Given the description of an element on the screen output the (x, y) to click on. 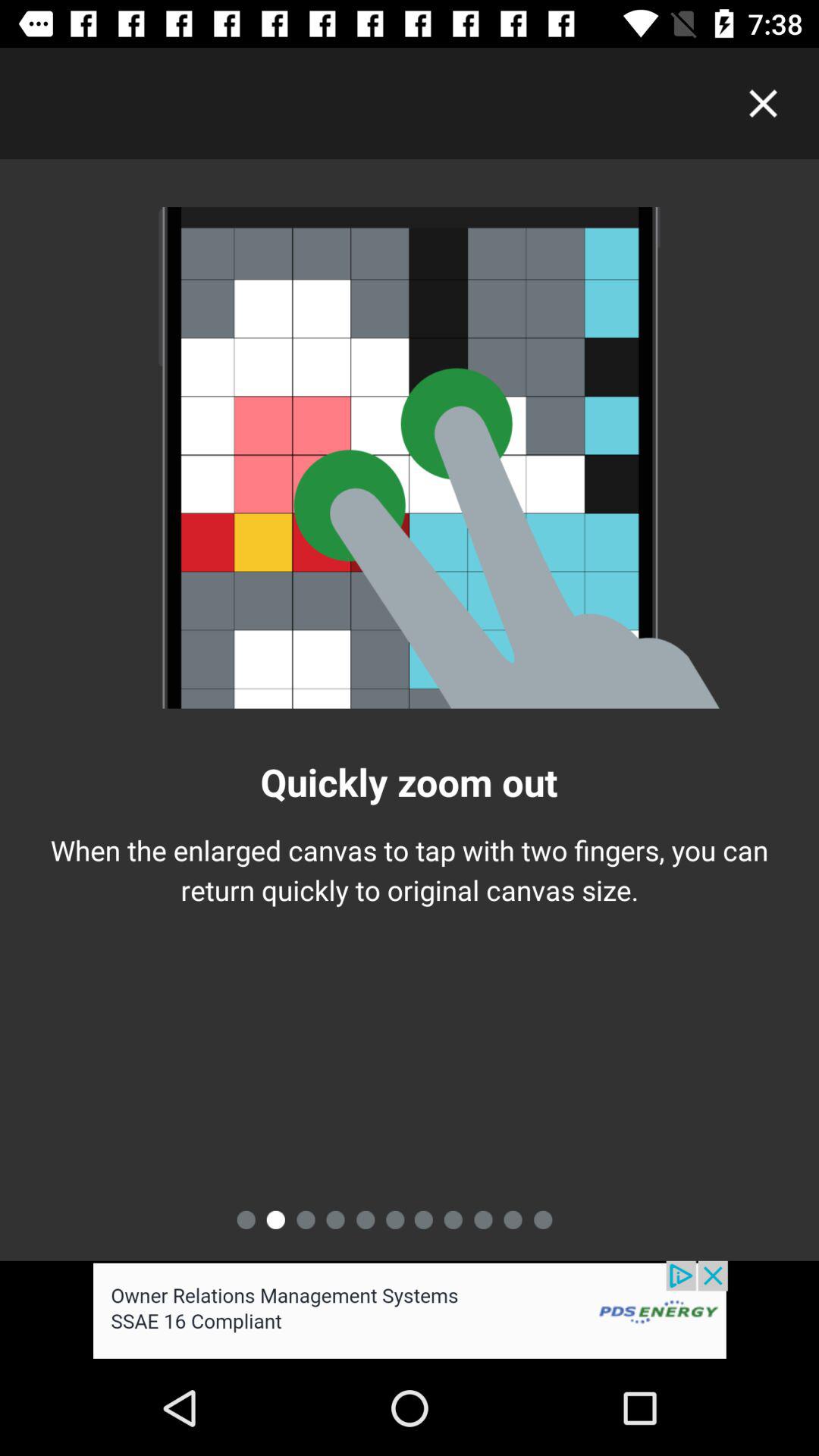
close the article (763, 103)
